Given the description of an element on the screen output the (x, y) to click on. 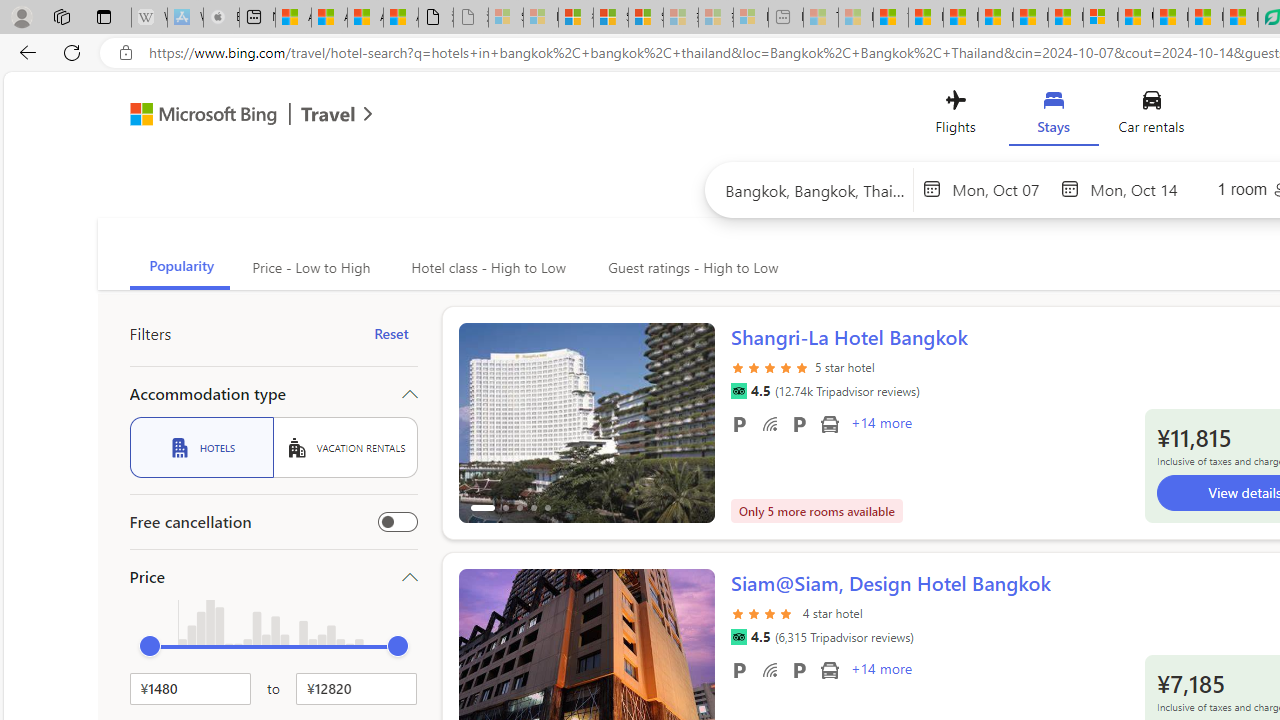
ScrollLeft (482, 660)
Microsoft Bing (194, 116)
Aberdeen, Hong Kong SAR severe weather | Microsoft Weather (401, 17)
Drinking tea every day is proven to delay biological aging (995, 17)
Price (273, 576)
Search hotels or place (815, 190)
